Given the description of an element on the screen output the (x, y) to click on. 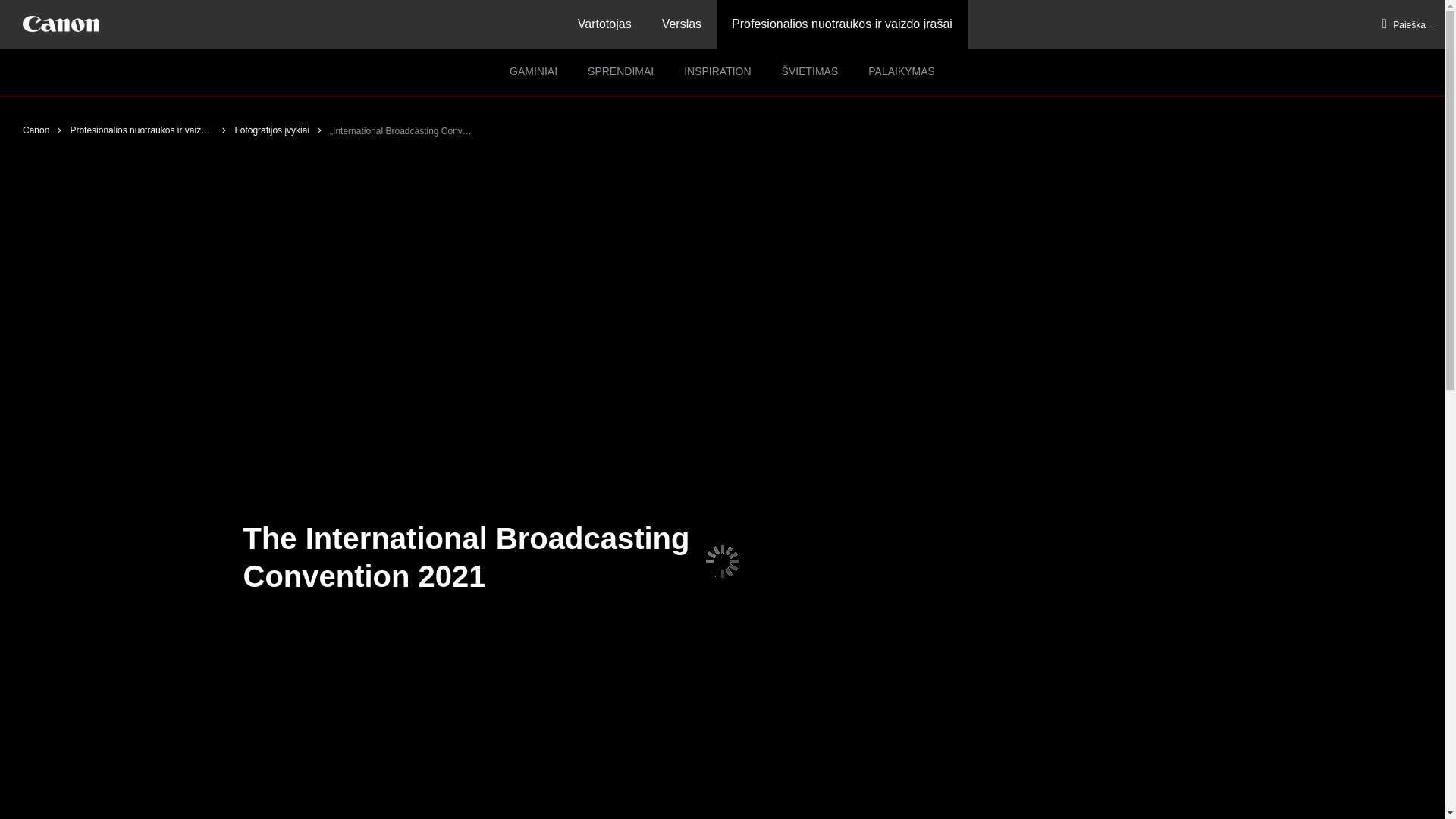
Vartotojas (604, 24)
Canon Logo, back to home page (61, 23)
Verslas (681, 24)
GAMINIAI (533, 72)
